Given the description of an element on the screen output the (x, y) to click on. 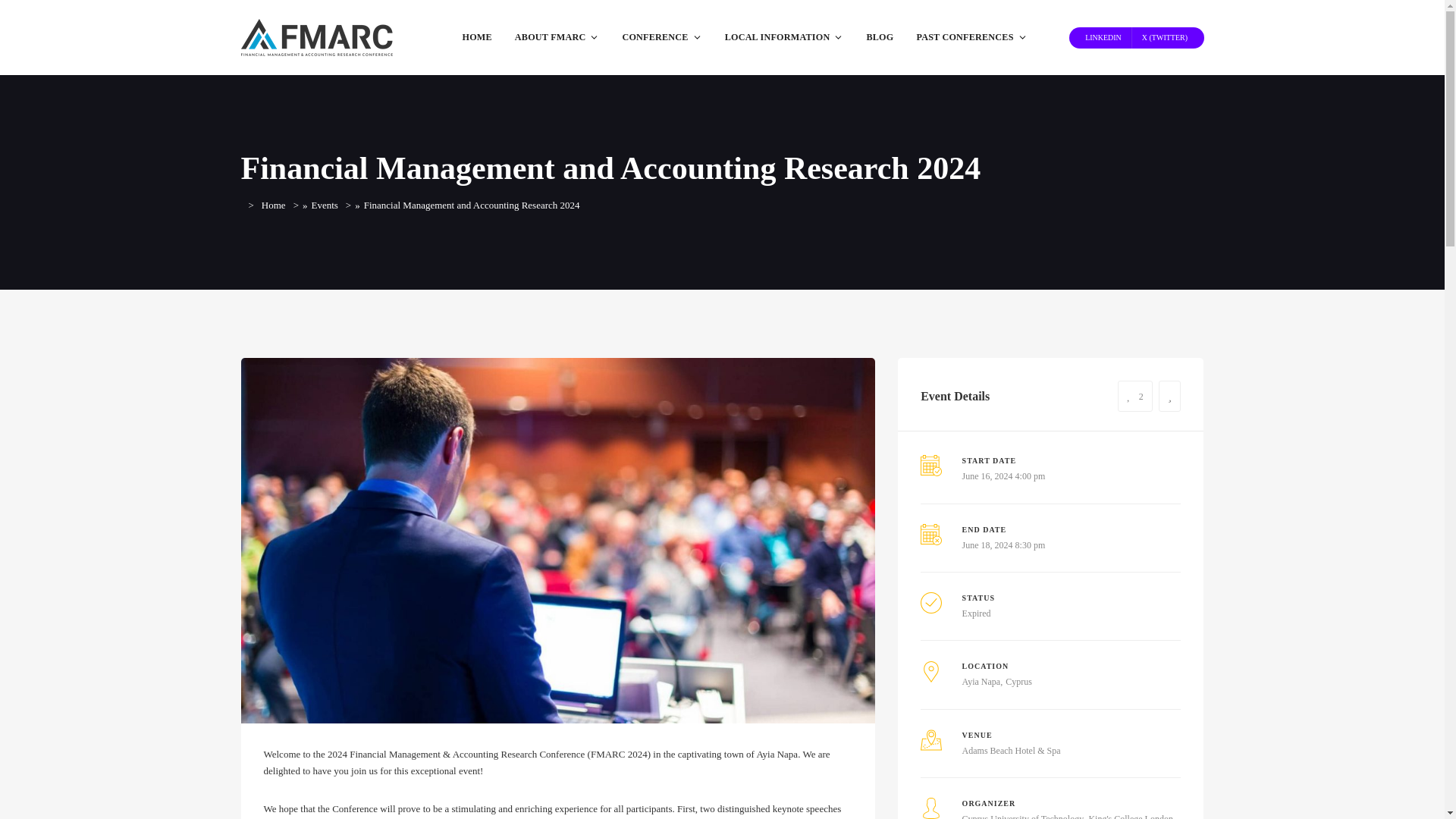
ABOUT FMARC (557, 37)
HOME (475, 37)
CONFERENCE (661, 37)
